Given the description of an element on the screen output the (x, y) to click on. 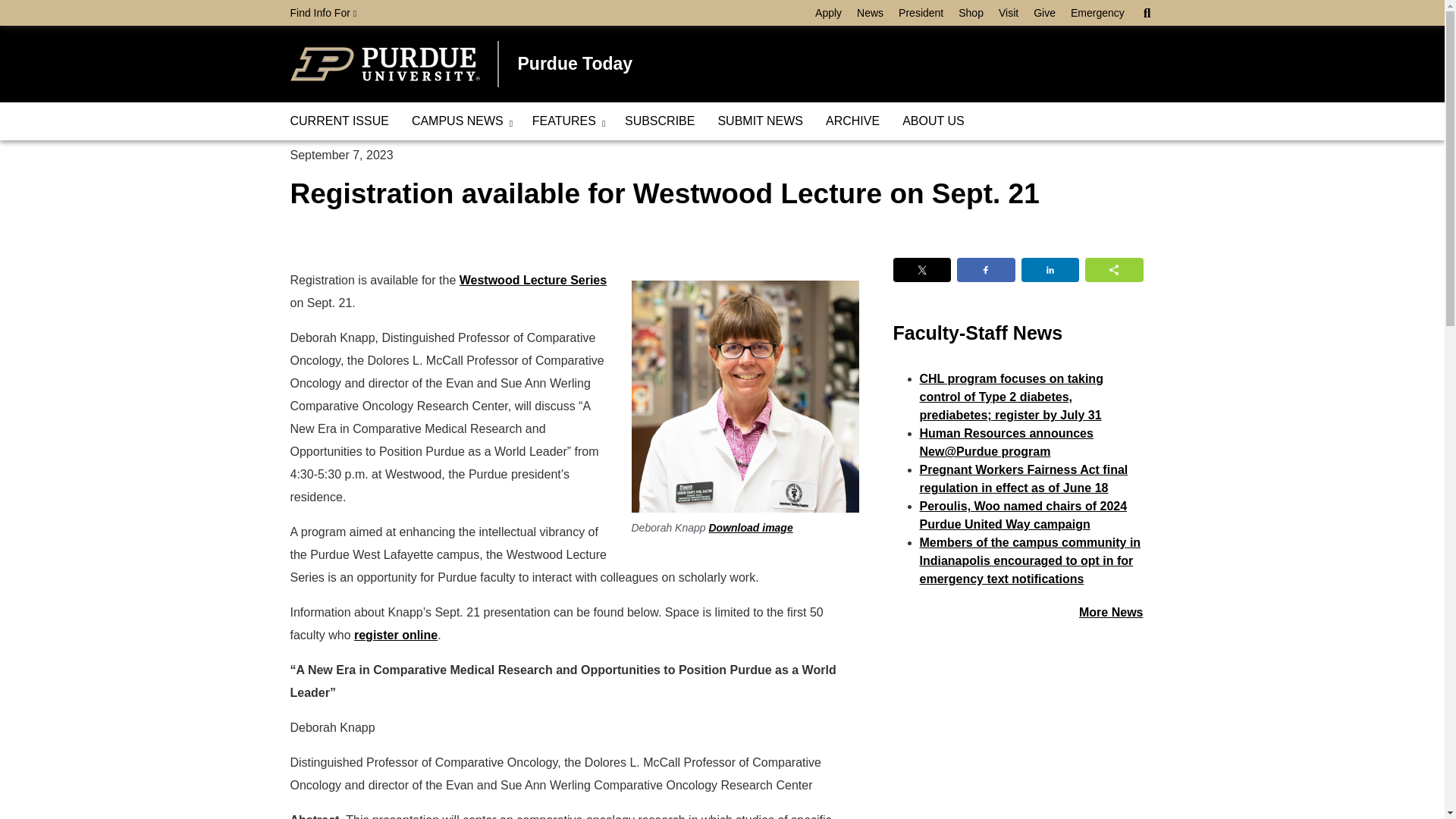
Purdue Today (573, 64)
Emergency (1097, 12)
SUBSCRIBE (659, 121)
Westwood Lecture Series (533, 279)
News (869, 12)
Download image (749, 527)
ABOUT US (933, 121)
Apply (828, 12)
register online (395, 634)
FEATURES (566, 121)
President (920, 12)
Shop (970, 12)
SUBMIT NEWS (759, 121)
ARCHIVE (852, 121)
Give (1044, 12)
